Given the description of an element on the screen output the (x, y) to click on. 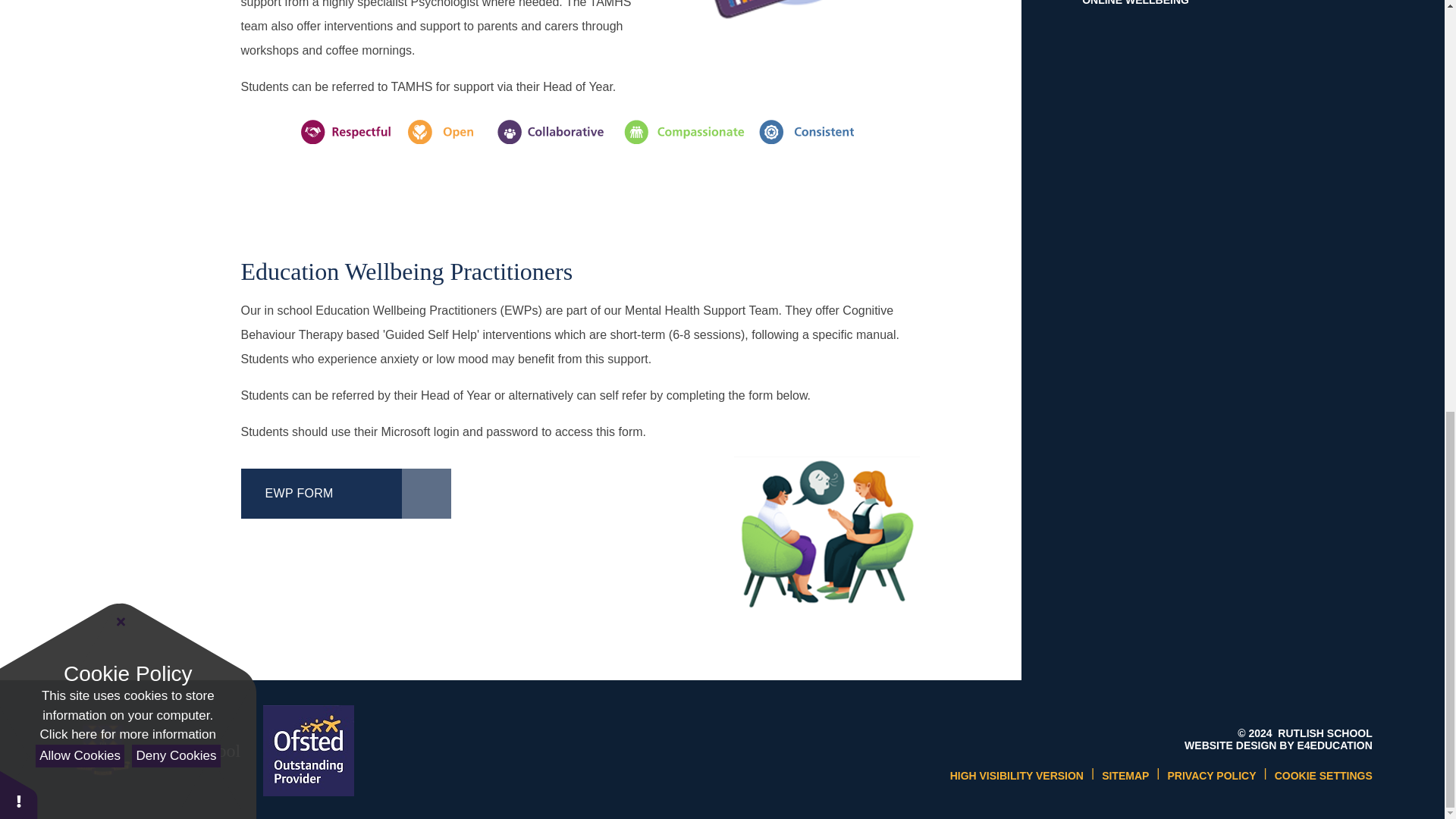
Place2Be at Rutlish School (795, 24)
Cookie Settings (1324, 775)
